Given the description of an element on the screen output the (x, y) to click on. 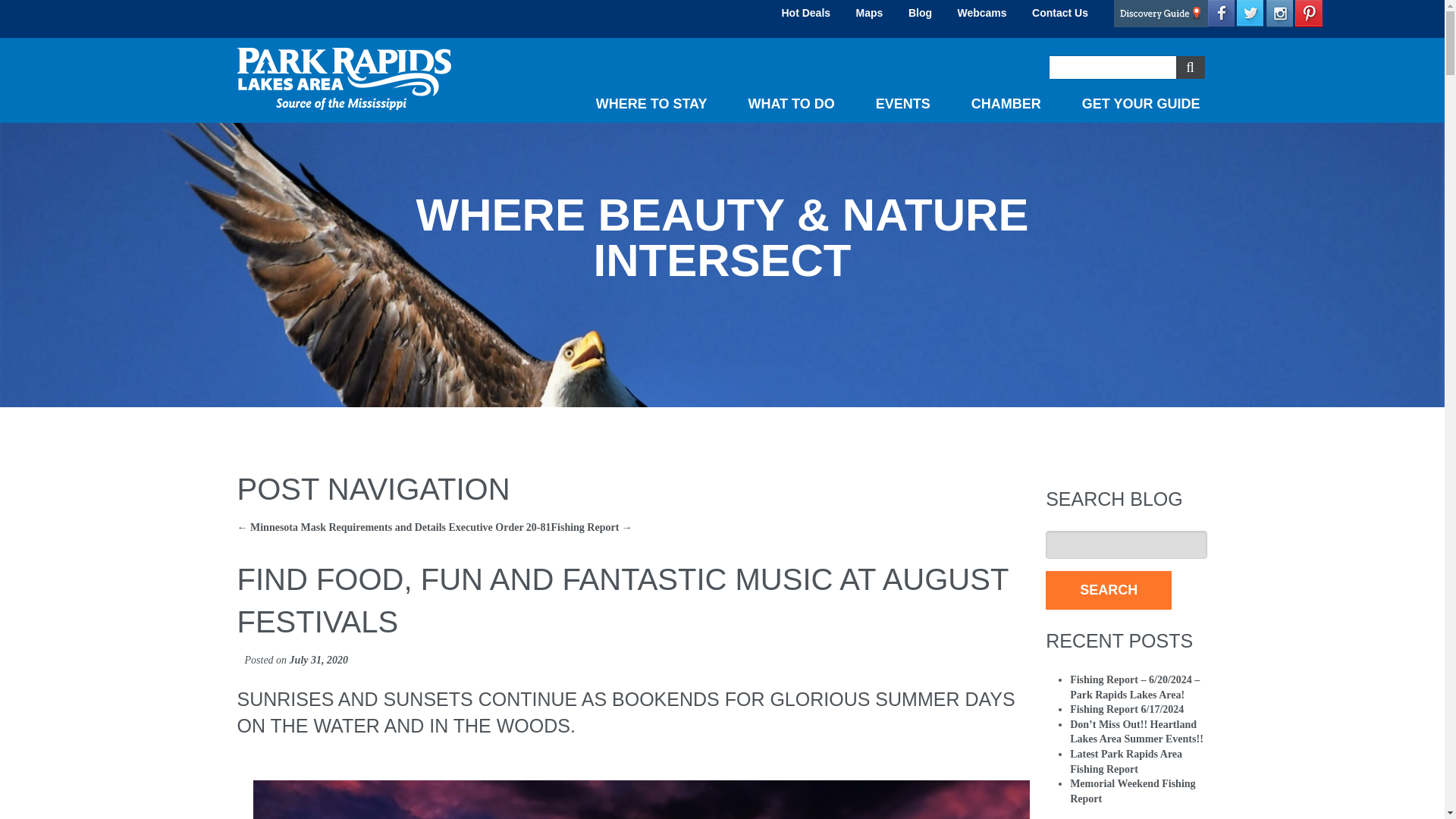
Search (1189, 67)
Facebook Icon (1220, 13)
Park Rapids Discovery Guide (1160, 13)
Park Rapids Chamber of Commerce Logo (342, 78)
Search (1108, 589)
Instagram Icon (1279, 13)
Twitter Icon (1249, 13)
Pinterest Icon (1308, 13)
